Given the description of an element on the screen output the (x, y) to click on. 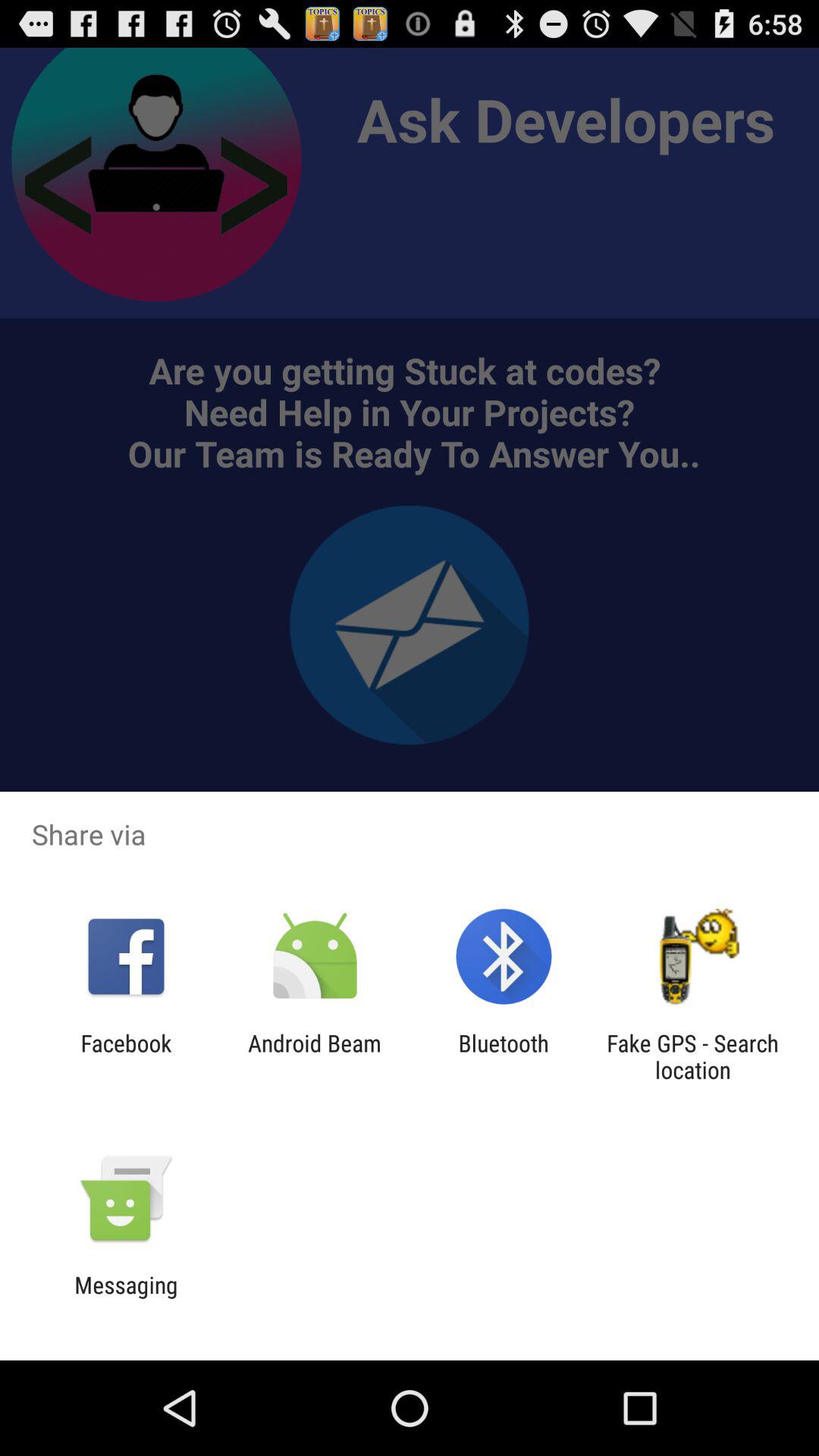
scroll until android beam icon (314, 1056)
